Given the description of an element on the screen output the (x, y) to click on. 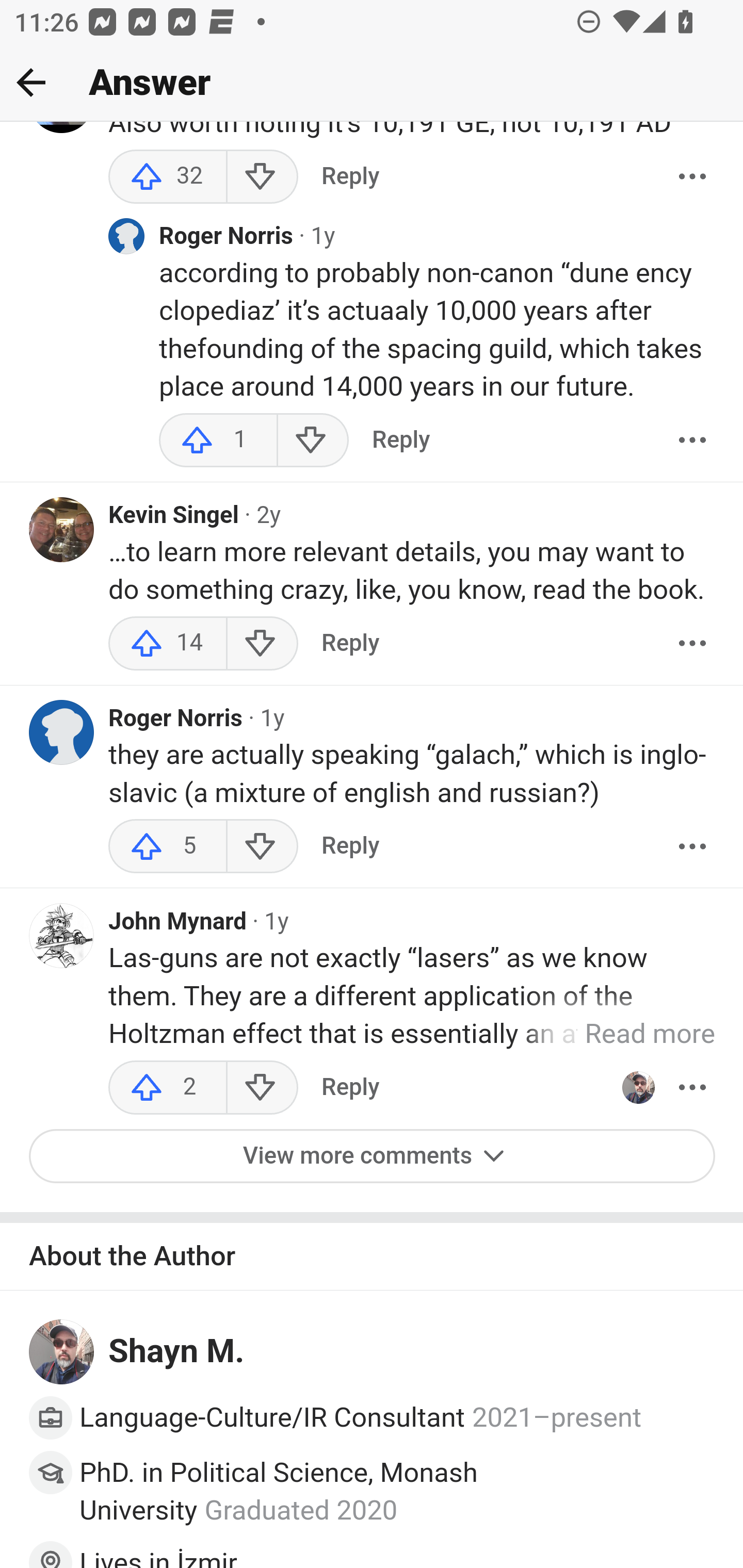
Back (30, 82)
32 upvotes (167, 177)
Downvote (261, 177)
Reply (350, 177)
More (691, 177)
Profile photo for Roger Norris (126, 236)
Roger Norris (226, 238)
1 upvote (218, 441)
Downvote (312, 441)
Reply (400, 441)
More (691, 441)
Profile photo for Kevin Singel (61, 530)
Kevin Singel (173, 516)
14 upvotes (167, 644)
Downvote (261, 644)
Reply (350, 644)
More (691, 644)
Profile photo for Roger Norris (61, 734)
Roger Norris (175, 719)
5 upvotes (167, 848)
Downvote (261, 848)
Reply (350, 848)
More (691, 848)
Profile photo for John Mynard (61, 936)
John Mynard (177, 922)
2 upvotes (167, 1087)
Downvote (261, 1087)
Reply (350, 1087)
Profile photo for Shayn M. (638, 1087)
More (691, 1087)
View more comments (372, 1156)
Profile photo for Shayn M. (61, 1352)
Shayn M. (176, 1352)
